Given the description of an element on the screen output the (x, y) to click on. 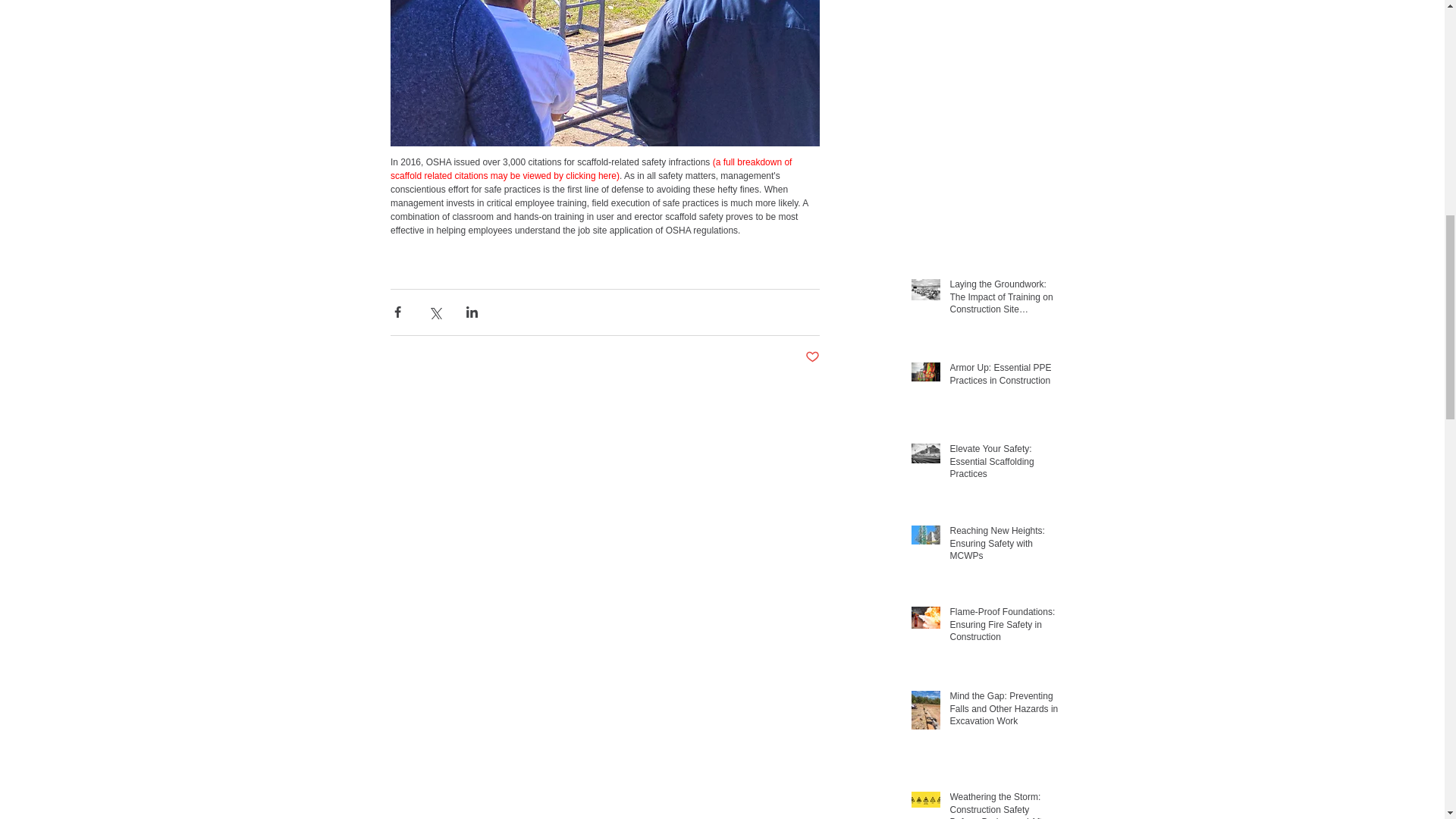
Armor Up: Essential PPE Practices in Construction (1003, 377)
Post not marked as liked (812, 357)
Elevate Your Safety: Essential Scaffolding Practices (1003, 464)
Reaching New Heights: Ensuring Safety with MCWPs (1003, 546)
